Given the description of an element on the screen output the (x, y) to click on. 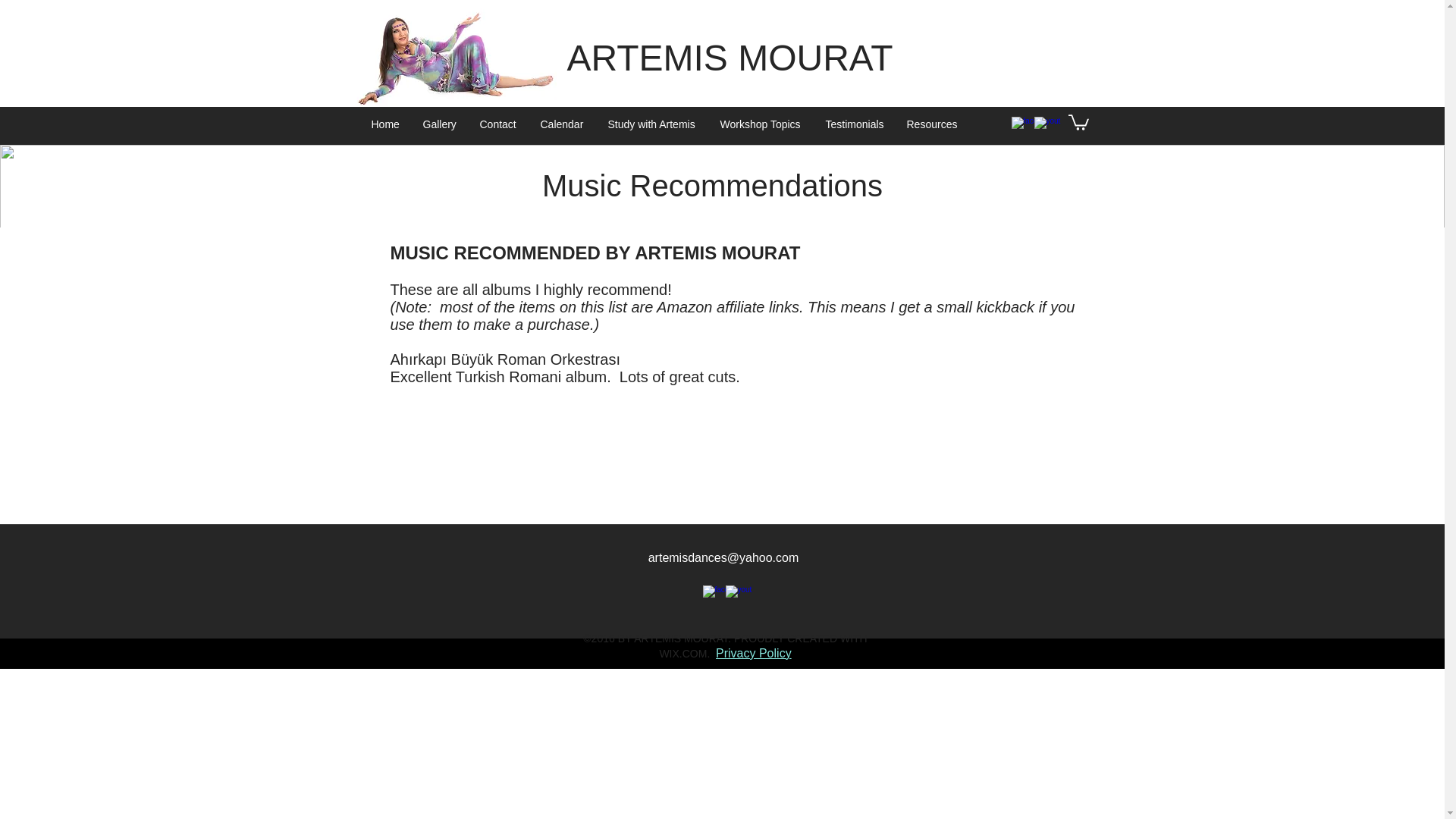
Workshop Topics (760, 124)
Privacy Policy (754, 653)
391A9241-de.jpg (453, 53)
Calendar (562, 124)
Home (384, 124)
Testimonials (854, 124)
Contact (498, 124)
